Given the description of an element on the screen output the (x, y) to click on. 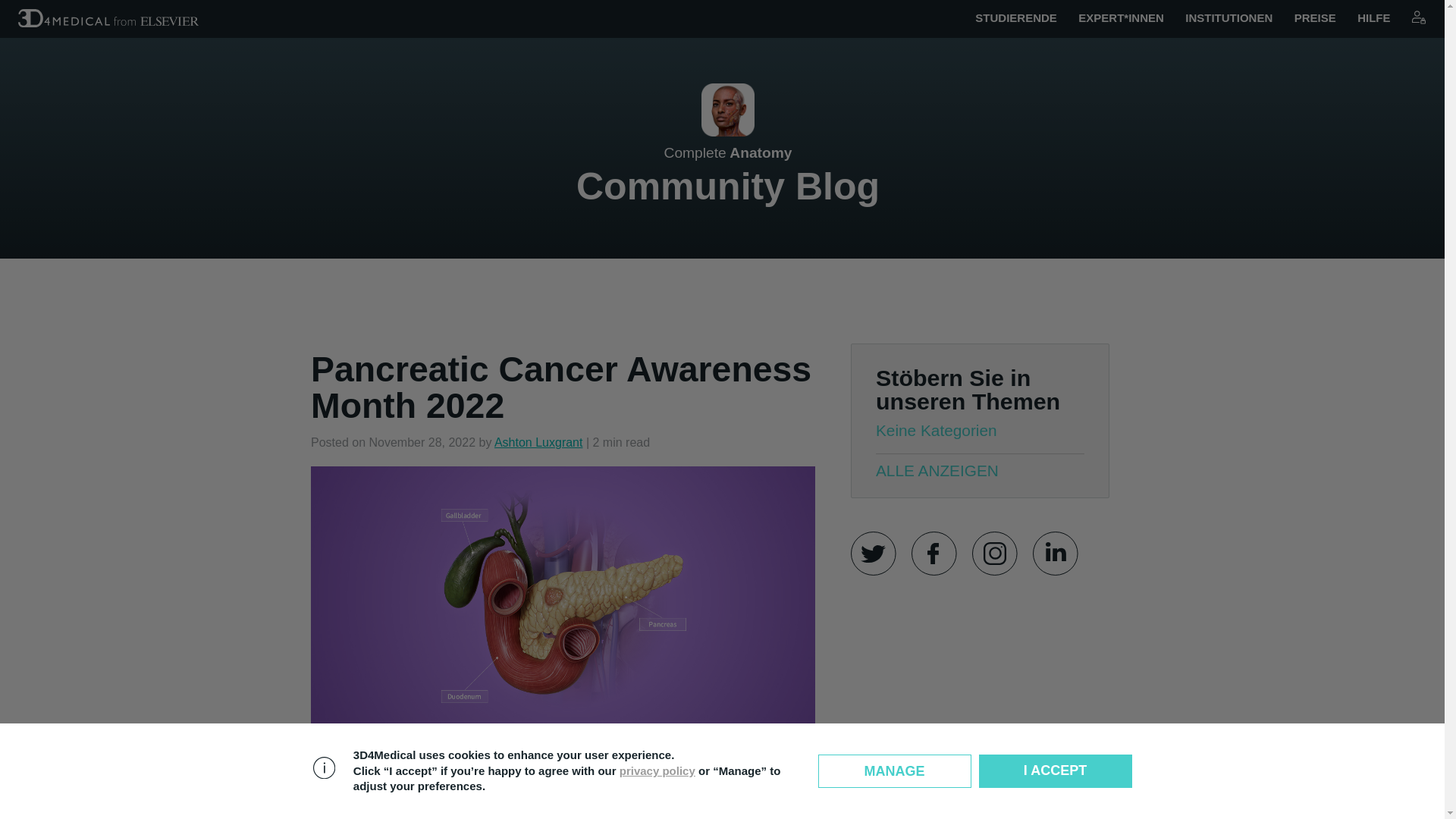
STUDIERENDE (1016, 17)
LOGIN CREATED WITH SKETCH. (1418, 17)
LOGIN CREATED WITH SKETCH. (1418, 17)
Ashton Luxgrant (539, 441)
PREISE (1315, 17)
HILFE (1373, 17)
INSTITUTIONEN (1228, 17)
